Given the description of an element on the screen output the (x, y) to click on. 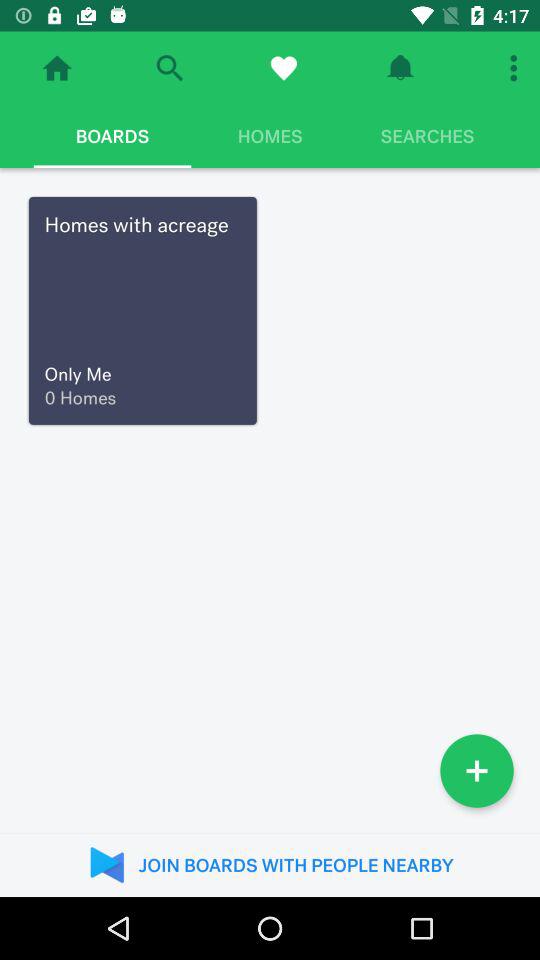
navigate to home (57, 68)
